Given the description of an element on the screen output the (x, y) to click on. 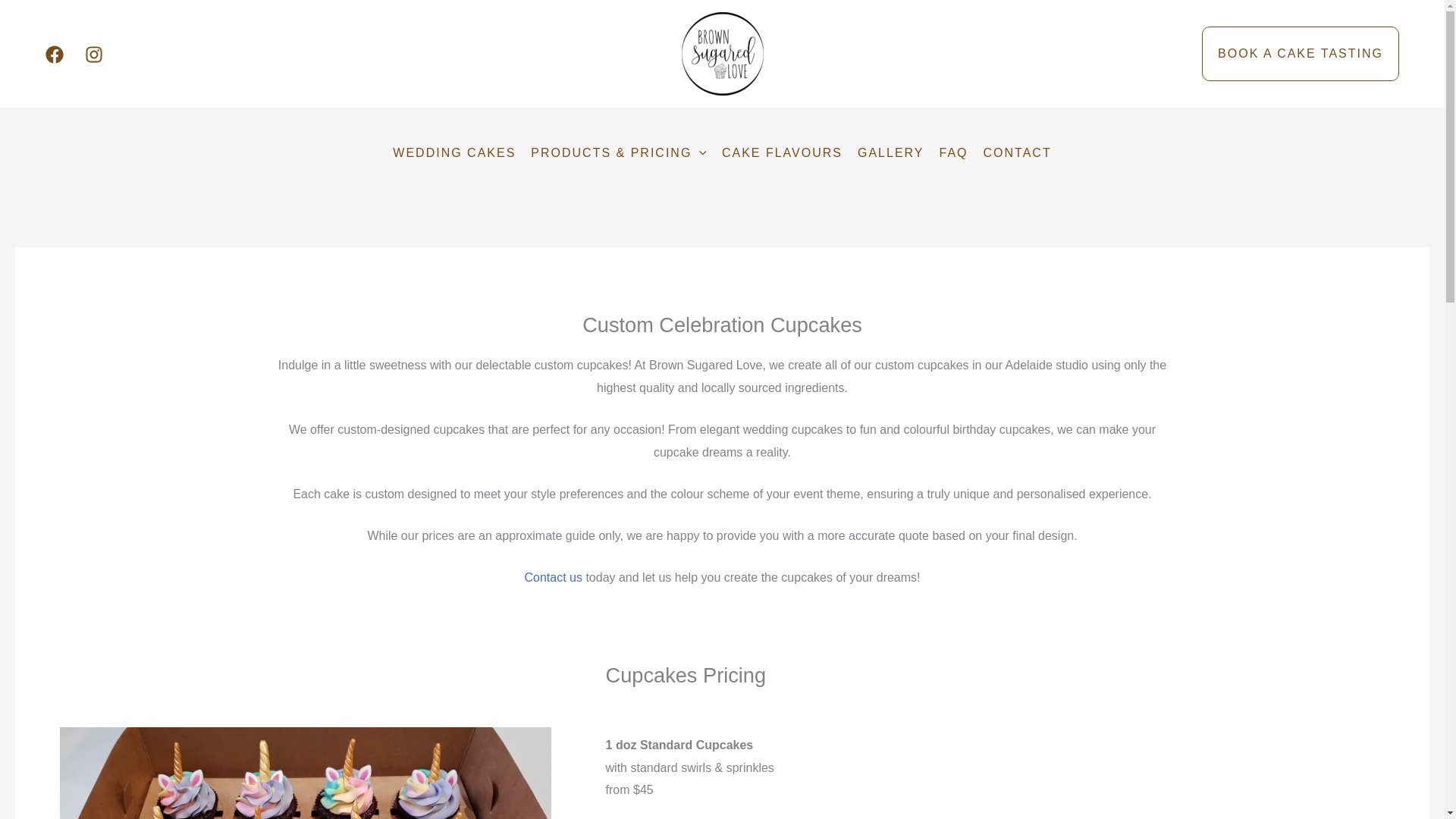
Contact us (552, 576)
WEDDING CAKES (453, 153)
BOOK A CAKE TASTING (1300, 53)
GALLERY (890, 153)
CAKE FLAVOURS (782, 153)
CONTACT (1017, 153)
